Given the description of an element on the screen output the (x, y) to click on. 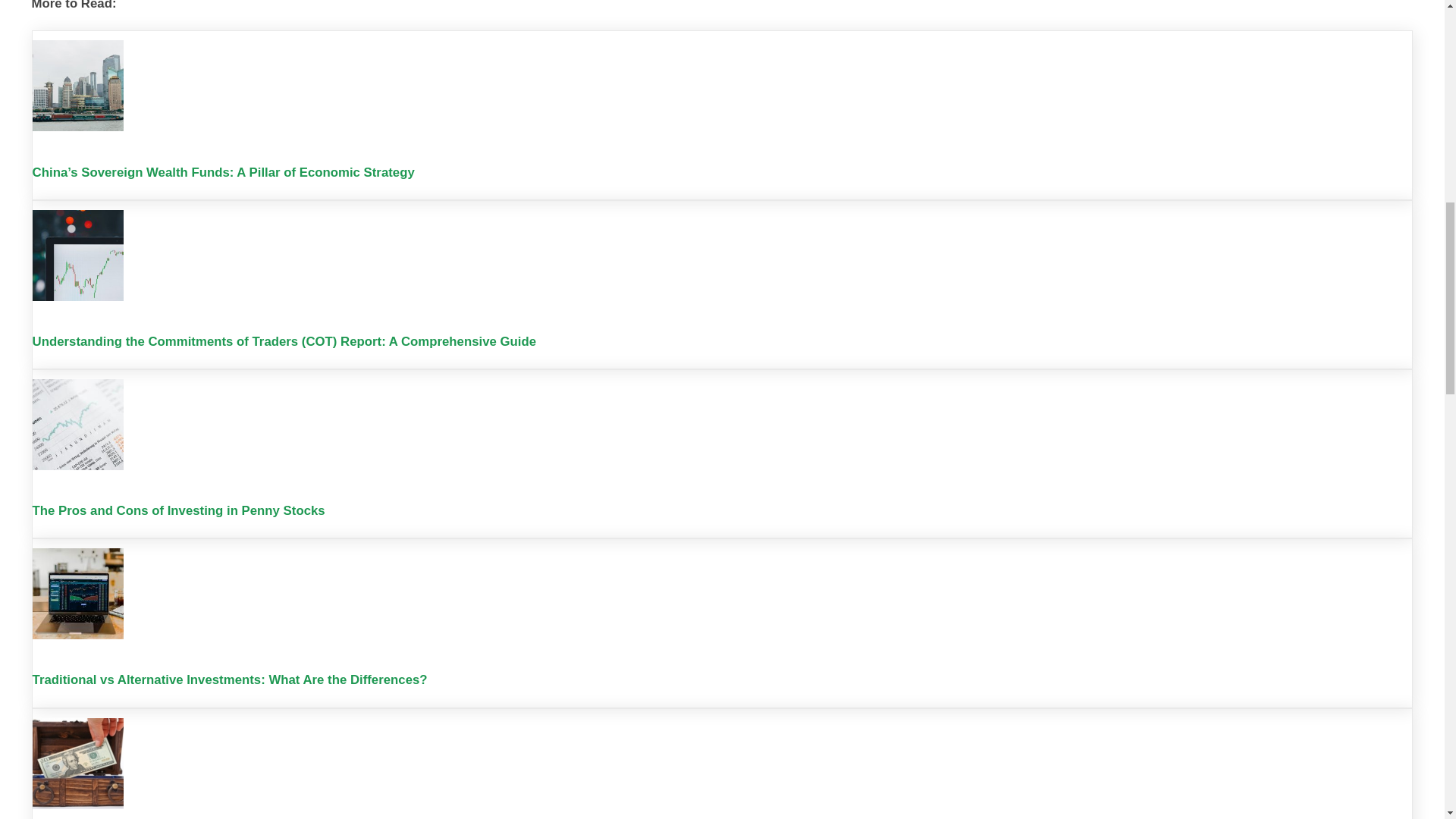
The Pros and Cons of Investing in Penny Stocks (178, 510)
